Given the description of an element on the screen output the (x, y) to click on. 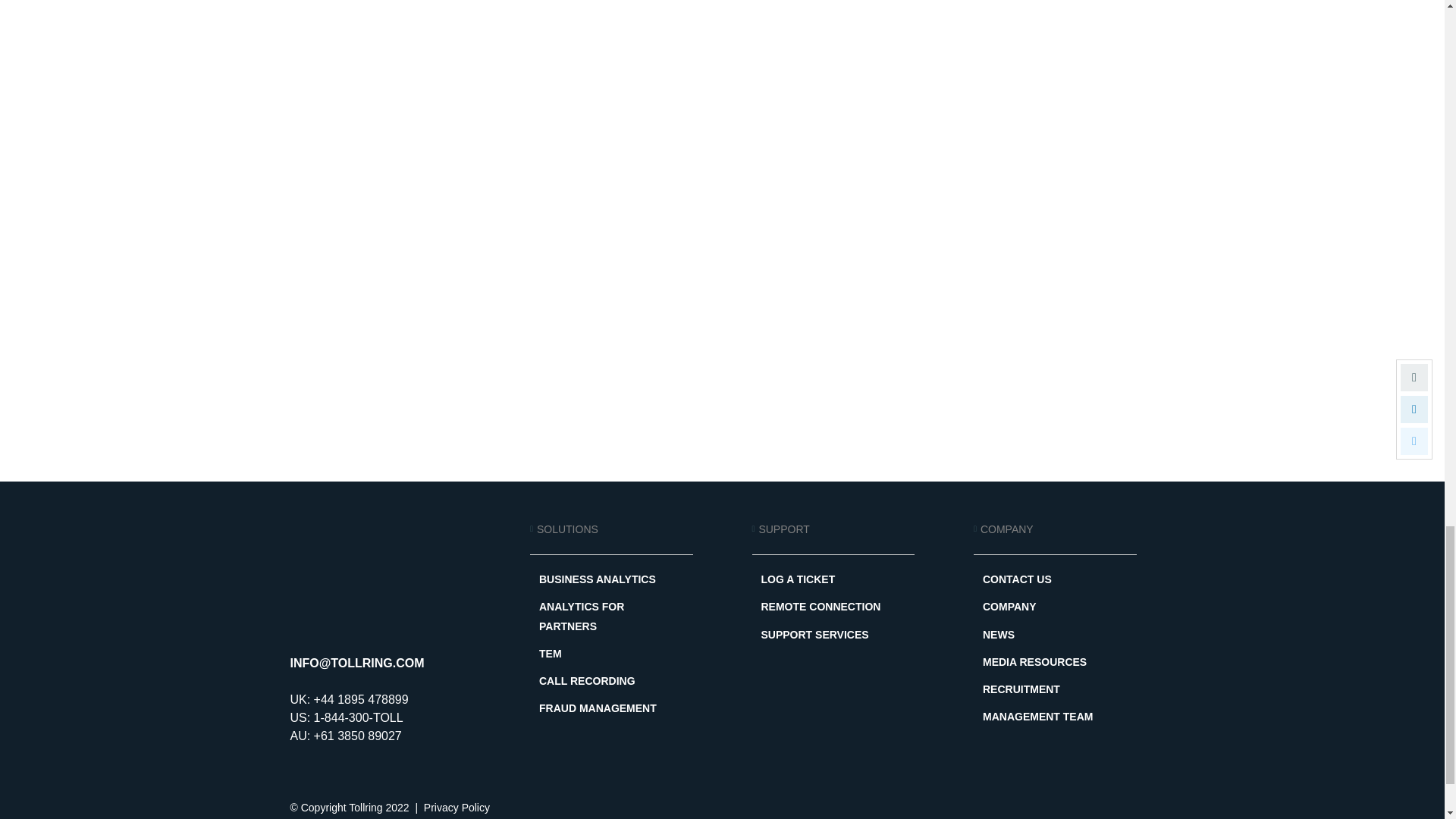
LOG A TICKET (833, 579)
MANAGEMENT TEAM (1055, 716)
SUPPORT SERVICES (833, 634)
REMOTE CONNECTION (833, 606)
ANALYTICS FOR PARTNERS (611, 616)
BUSINESS ANALYTICS (611, 579)
MEDIA RESOURCES (1055, 661)
CALL RECORDING (611, 681)
CONTACT US (1055, 579)
COMPANY (1055, 606)
Privacy Policy (456, 807)
TEM (611, 653)
FRAUD MANAGEMENT (611, 708)
NEWS (1055, 634)
RECRUITMENT (1055, 689)
